Given the description of an element on the screen output the (x, y) to click on. 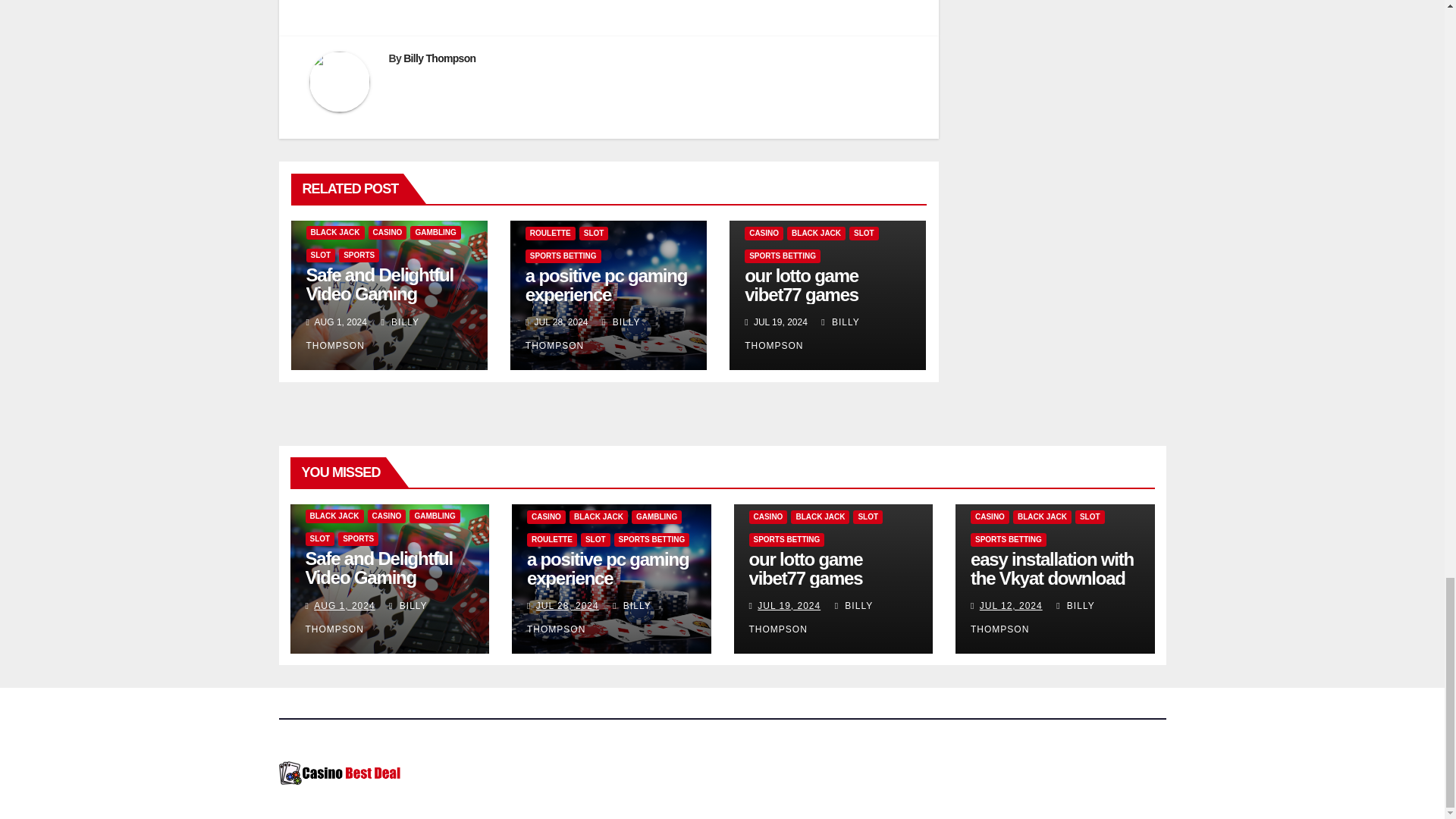
SPORTS (358, 255)
CASINO (387, 232)
Permalink to: a positive pc gaming experience (607, 568)
SLOT (320, 255)
Safe and Delightful Video Gaming Practices in Nepal (379, 293)
GAMBLING (435, 232)
Permalink to: our lotto game vibet77 games (801, 284)
Permalink to: a positive pc gaming experience (606, 284)
Billy Thompson (439, 58)
Permalink to: easy installation with the Vkyat download (1052, 568)
Permalink to: our lotto game vibet77 games (806, 568)
BLACK JACK (335, 232)
